Given the description of an element on the screen output the (x, y) to click on. 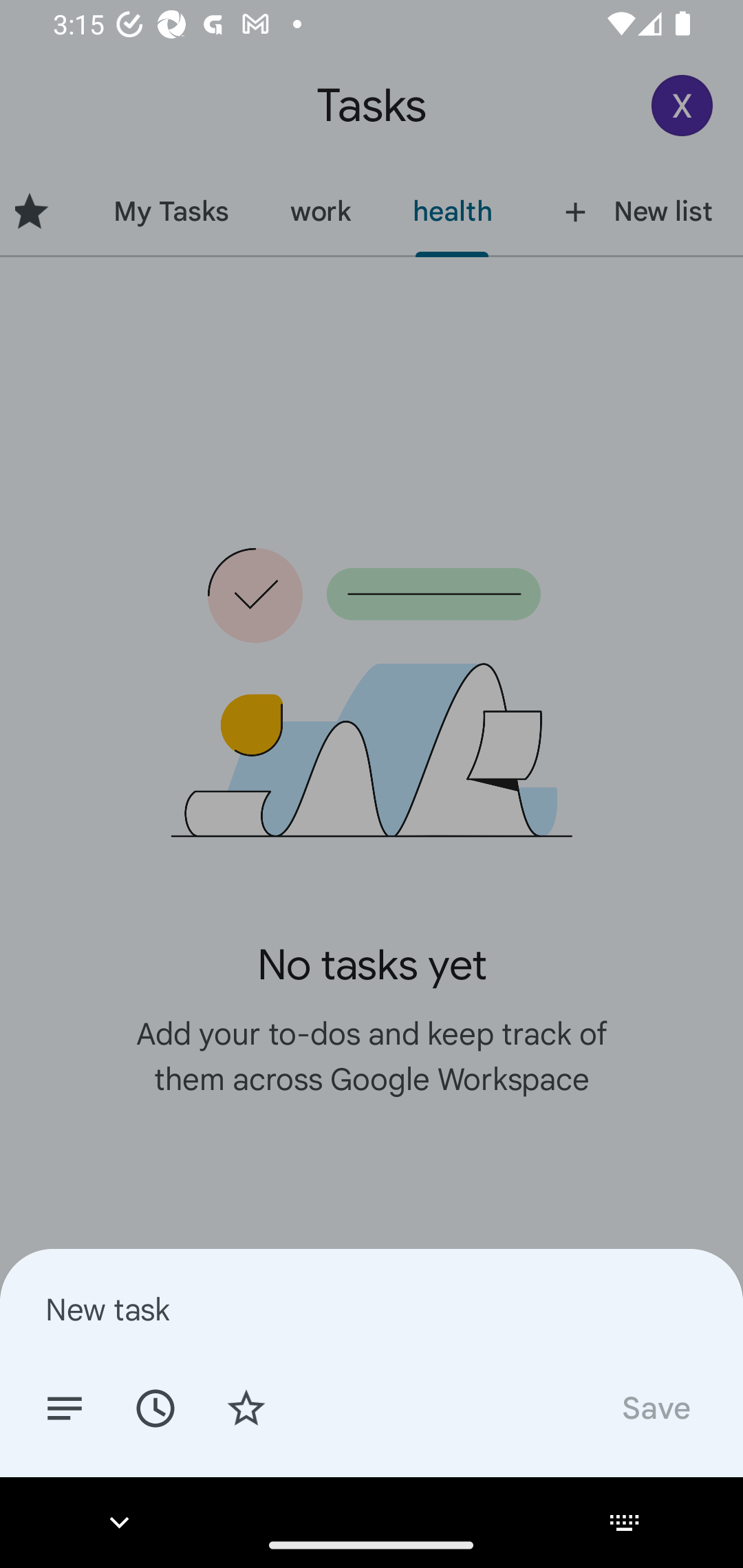
New task (371, 1308)
Save (655, 1407)
Add details (64, 1407)
Set date/time (154, 1407)
Add star (245, 1407)
